Given the description of an element on the screen output the (x, y) to click on. 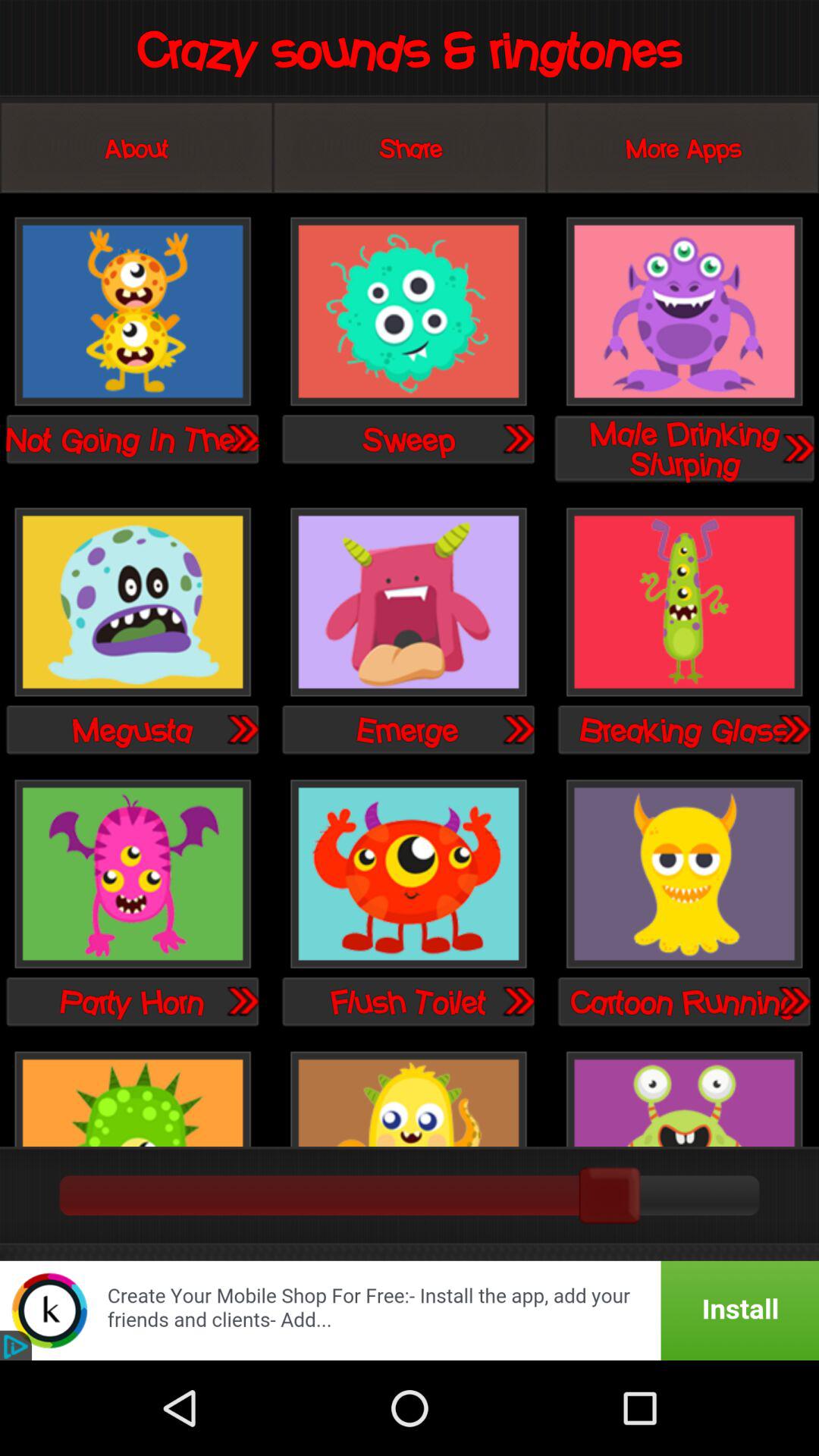
go to next option (797, 447)
